Given the description of an element on the screen output the (x, y) to click on. 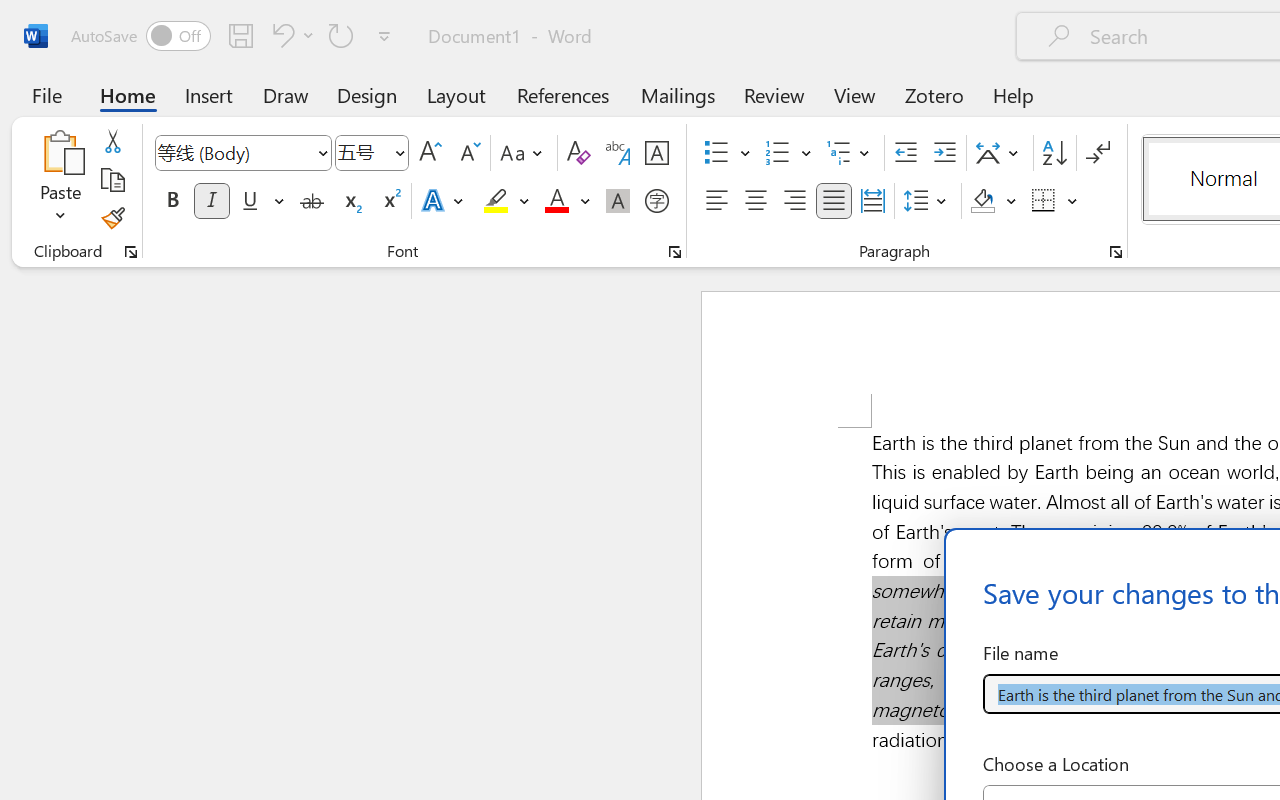
Asian Layout (1000, 153)
